Given the description of an element on the screen output the (x, y) to click on. 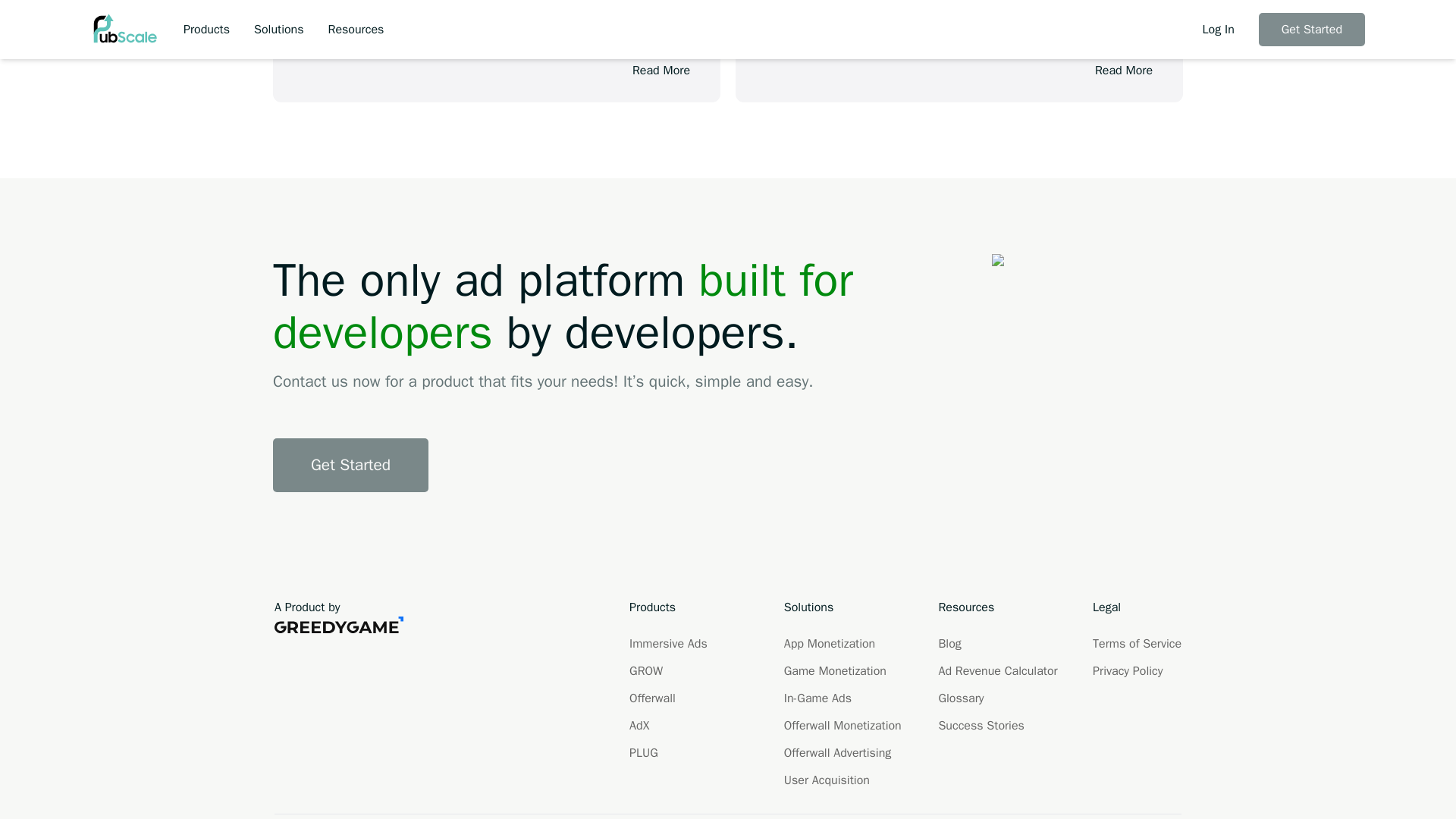
User Acquisition (826, 780)
PLUG (643, 752)
Offerwall (651, 698)
Ad Revenue Calculator (997, 670)
Immersive Ads (667, 643)
Offerwall Monetization (842, 725)
In-Game Ads (817, 698)
GROW (645, 670)
Offerwall Advertising (837, 752)
AdX (638, 725)
App Monetization (829, 643)
Get Started (350, 465)
footer image (1030, 262)
